Given the description of an element on the screen output the (x, y) to click on. 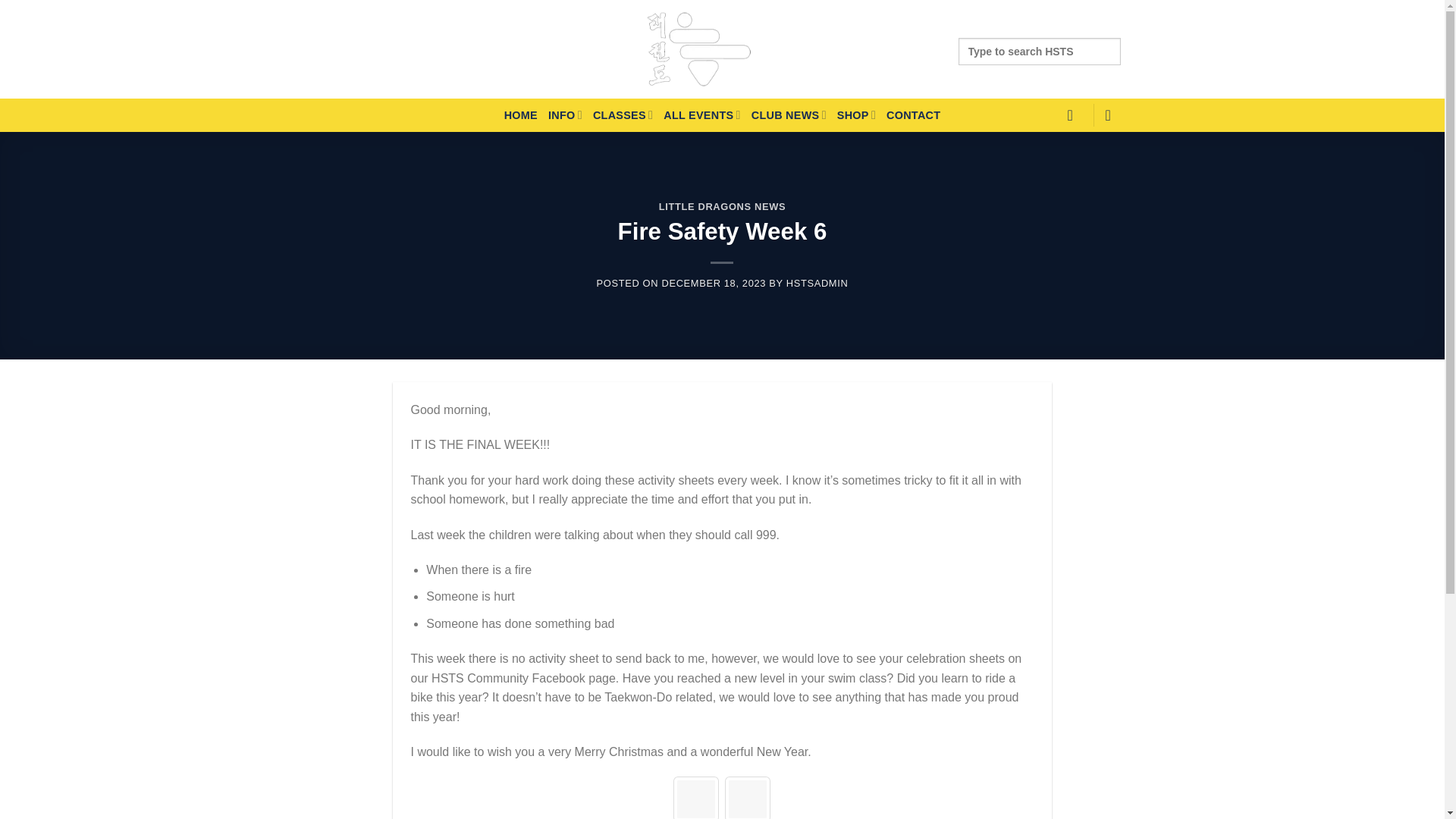
Follow on Instagram (353, 50)
Follow on Twitter (374, 50)
CLASSES (622, 114)
HOME (520, 114)
INFO (565, 114)
